Given the description of an element on the screen output the (x, y) to click on. 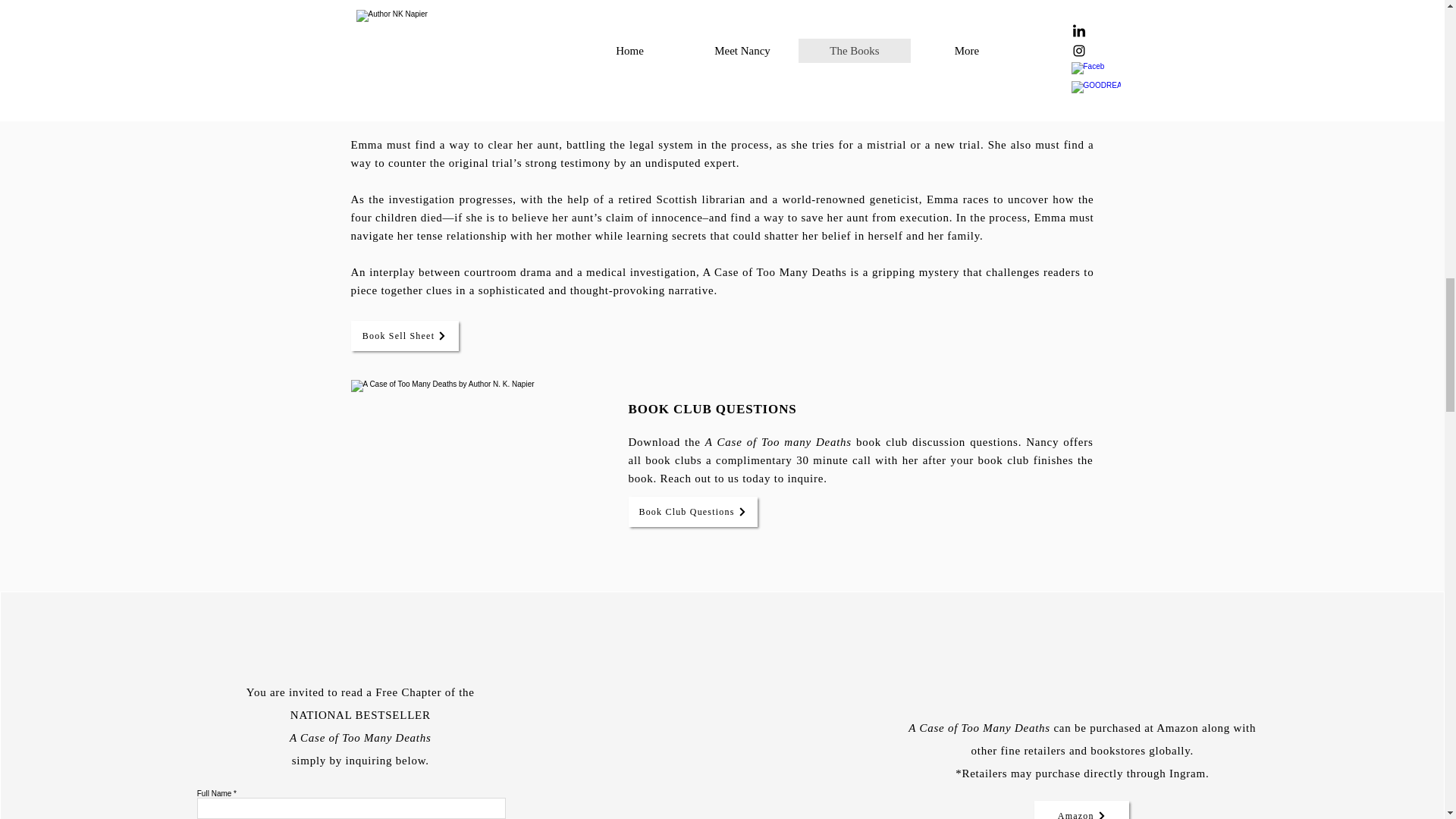
Book Sell Sheet (404, 336)
Book Club Questions (692, 511)
Amazon (1081, 809)
